Given the description of an element on the screen output the (x, y) to click on. 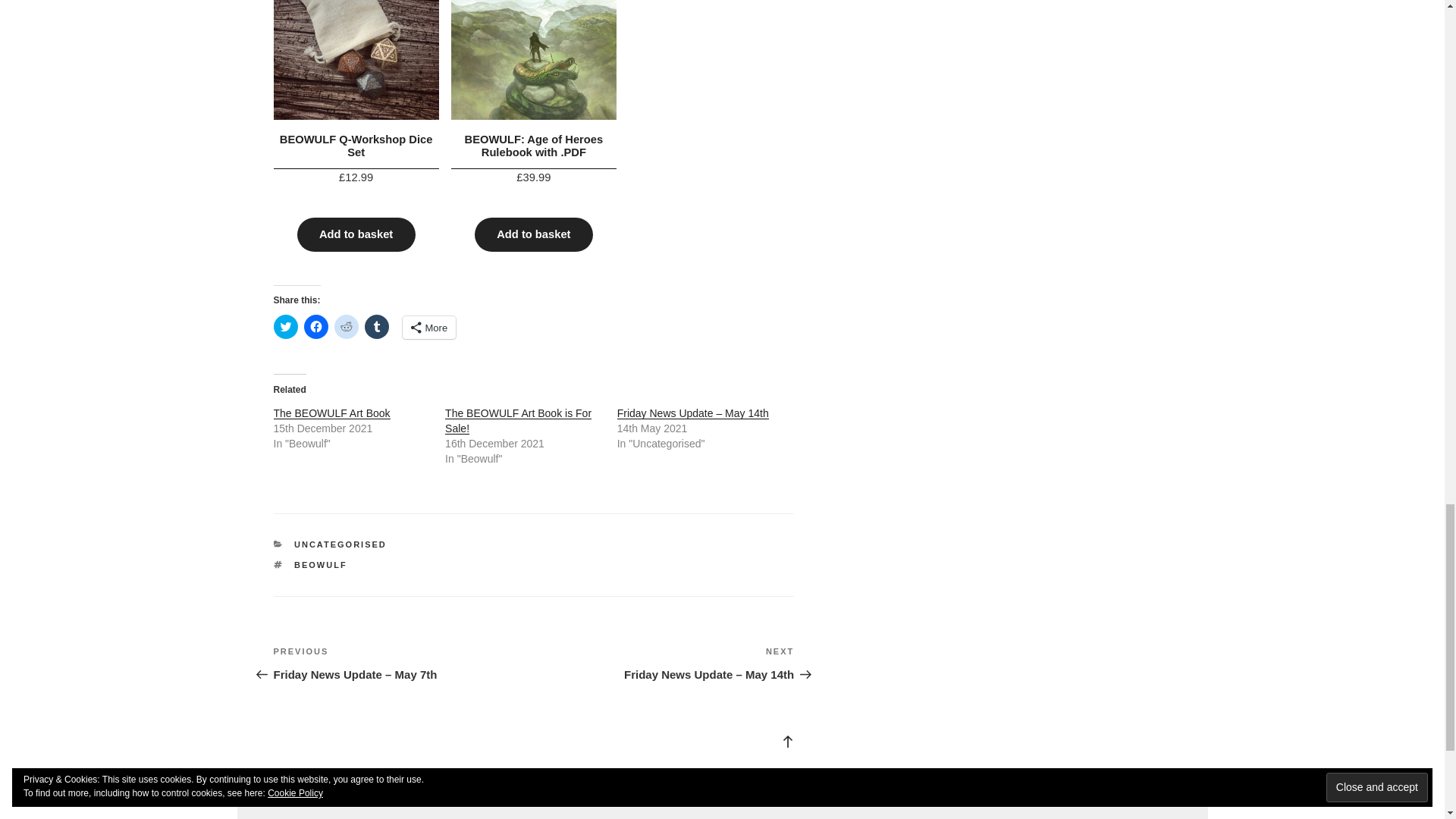
Click to share on Facebook (314, 326)
The BEOWULF Art Book is For Sale! (518, 420)
Click to share on Twitter (285, 326)
The BEOWULF Art Book (331, 413)
Click to share on Tumblr (376, 326)
Click to share on Reddit (345, 326)
